Given the description of an element on the screen output the (x, y) to click on. 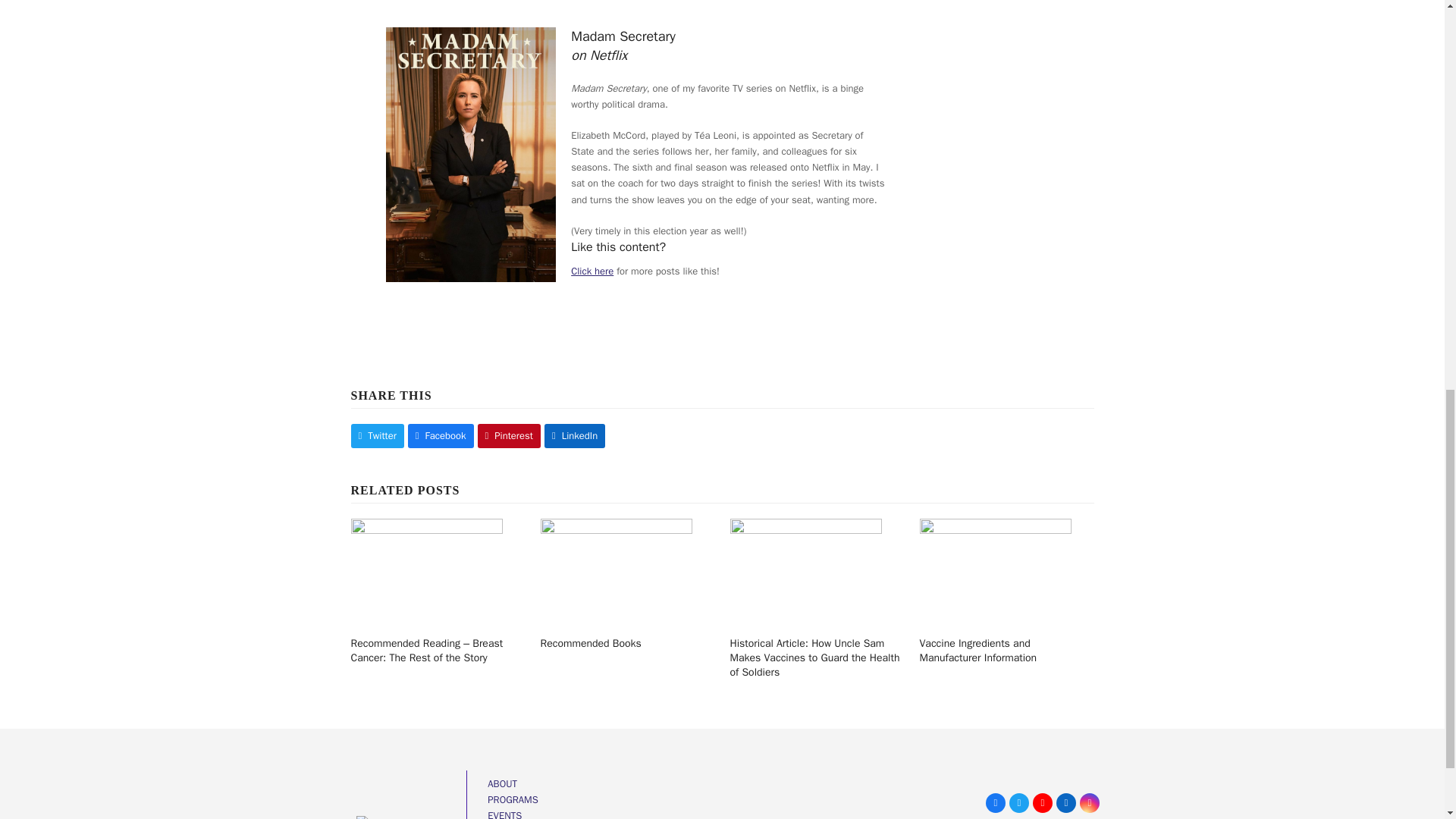
Recommended Books (615, 570)
Vaccine Ingredients and Manufacturer Information (994, 570)
Twitter (1019, 803)
Facebook (995, 803)
LinkedIn (1066, 803)
Youtube (1042, 803)
MI-logoFOOT-2019 (402, 817)
Click here (591, 270)
Instagram (1089, 803)
